Given the description of an element on the screen output the (x, y) to click on. 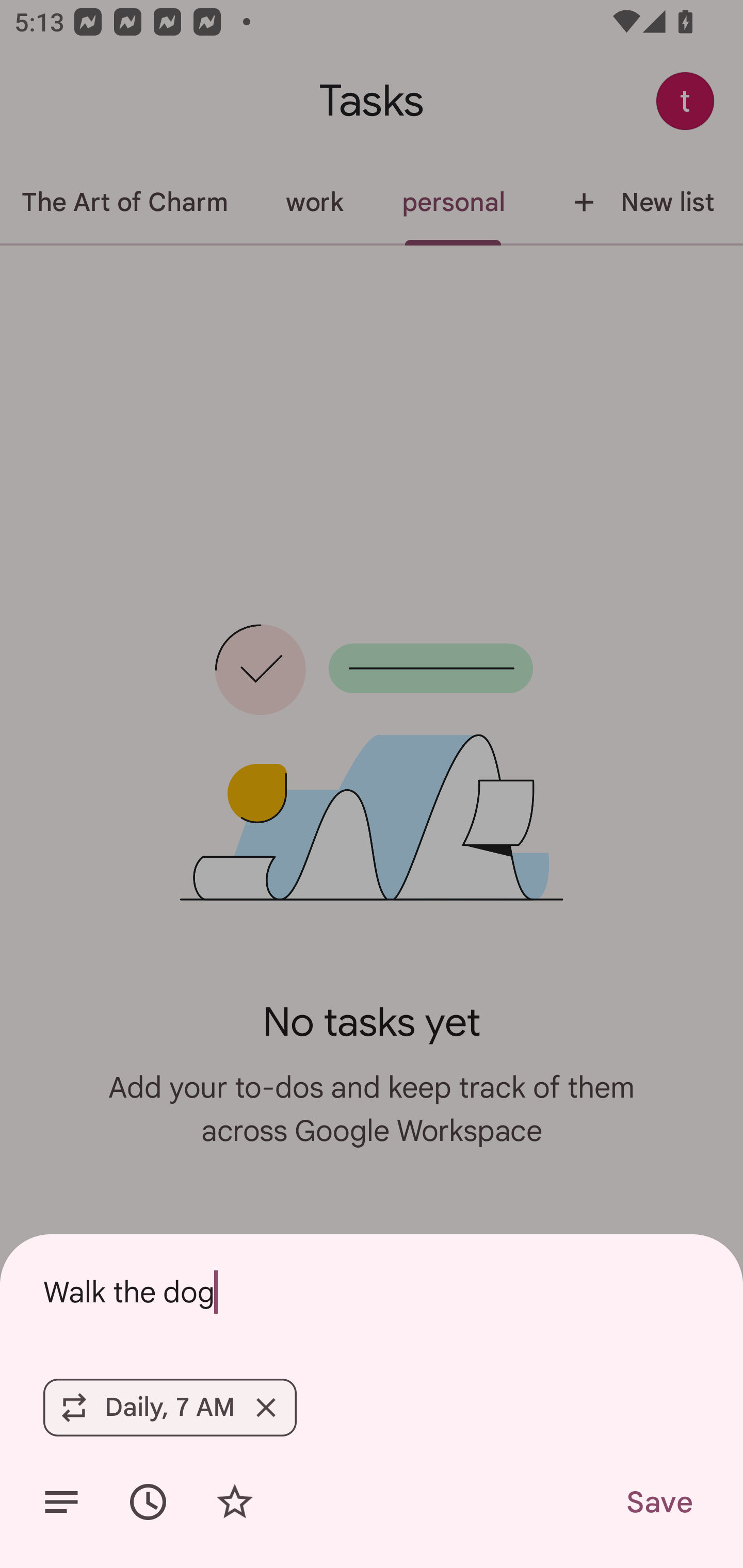
Walk the dog (371, 1291)
Daily, 7 AM Remove Daily, 7 AM (169, 1407)
Save (659, 1501)
Add details (60, 1501)
Set date/time (147, 1501)
Add star (234, 1501)
